Given the description of an element on the screen output the (x, y) to click on. 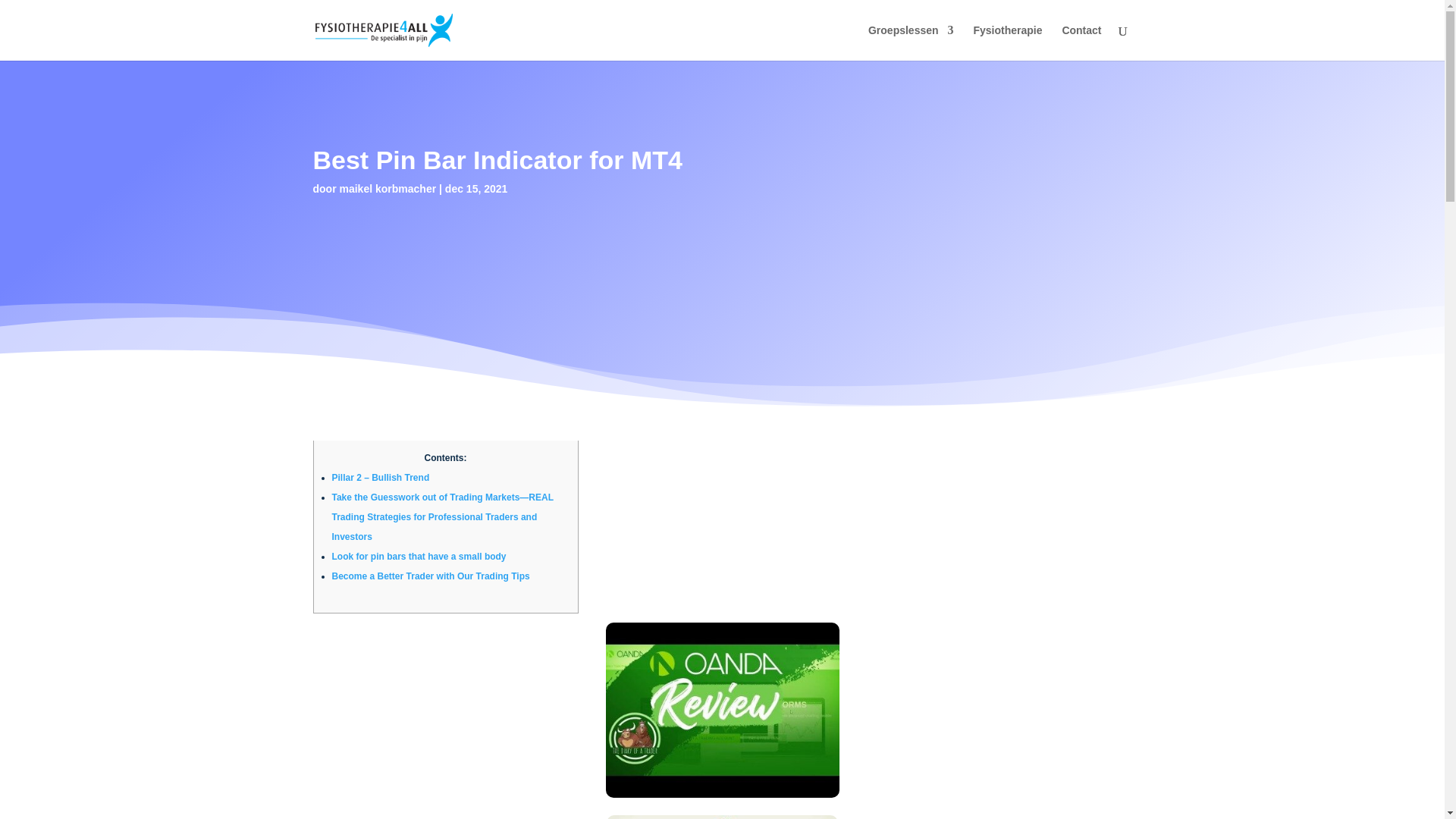
Look for pin bars that have a small body (418, 556)
Fysiotherapie (1007, 42)
maikel korbmacher (387, 188)
Become a Better Trader with Our Trading Tips (430, 575)
Groepslessen (910, 42)
Posts van maikel korbmacher (387, 188)
Contact (1080, 42)
